Given the description of an element on the screen output the (x, y) to click on. 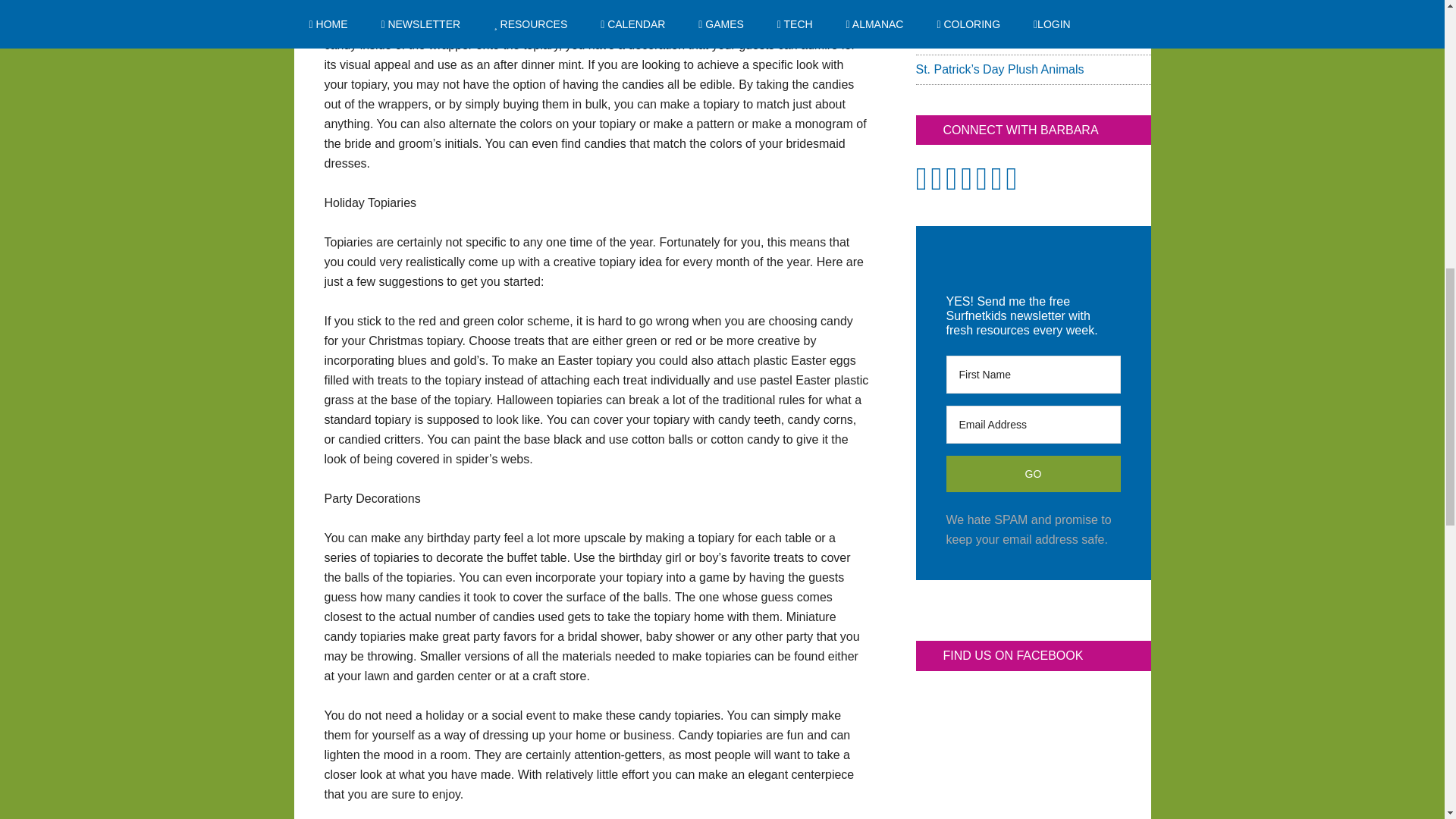
Go (1033, 473)
